Given the description of an element on the screen output the (x, y) to click on. 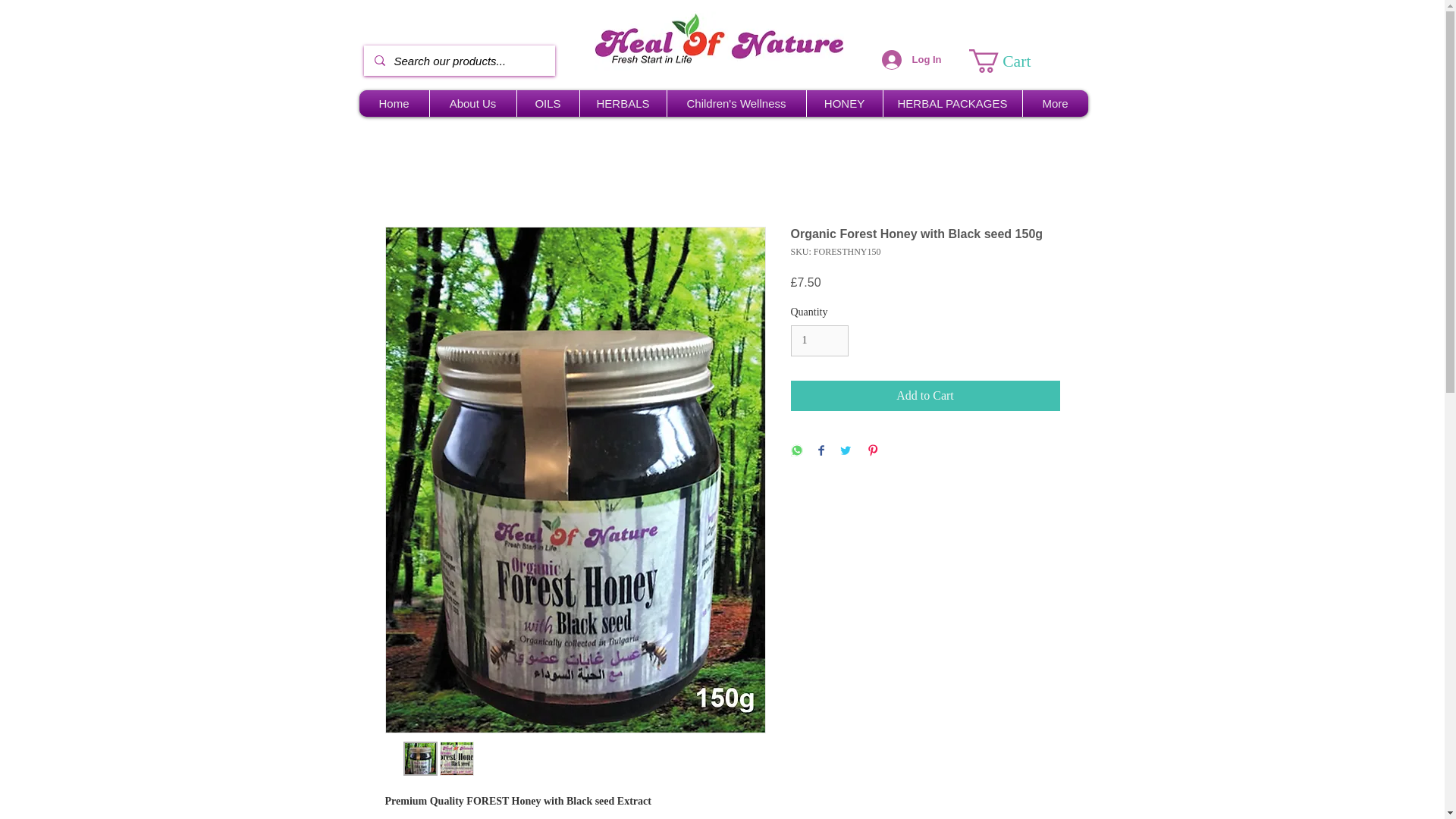
Cart (1013, 60)
HERBAL PACKAGES (951, 103)
HERBALS (622, 103)
Home (393, 103)
Cart (1013, 60)
OILS (547, 103)
Log In (911, 59)
Children's Wellness (735, 103)
1 (818, 340)
HONEY (843, 103)
